Given the description of an element on the screen output the (x, y) to click on. 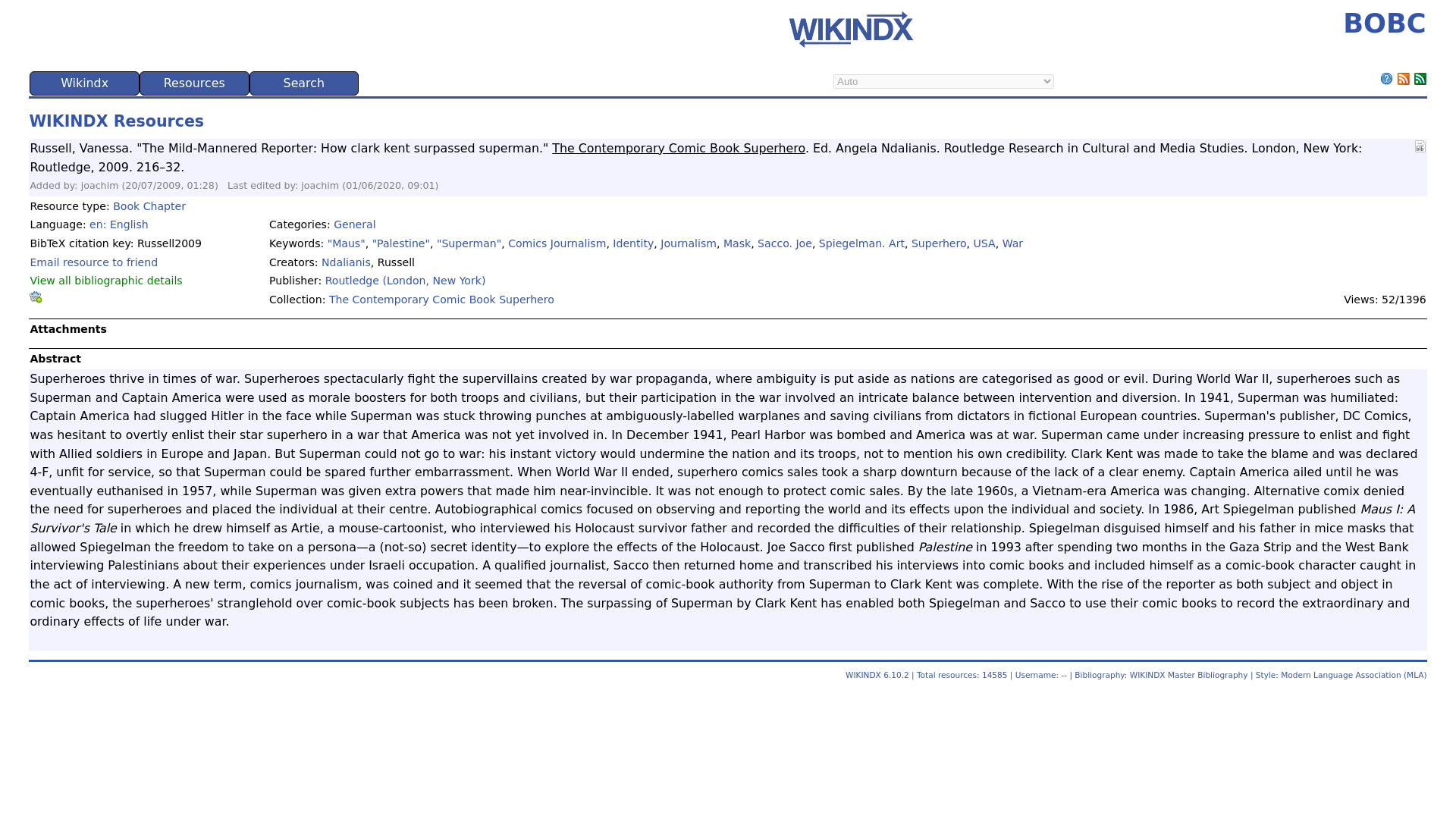
Wikindx (84, 83)
Resources (193, 83)
WIKINDX SourceForge (850, 29)
Search (304, 83)
